Given the description of an element on the screen output the (x, y) to click on. 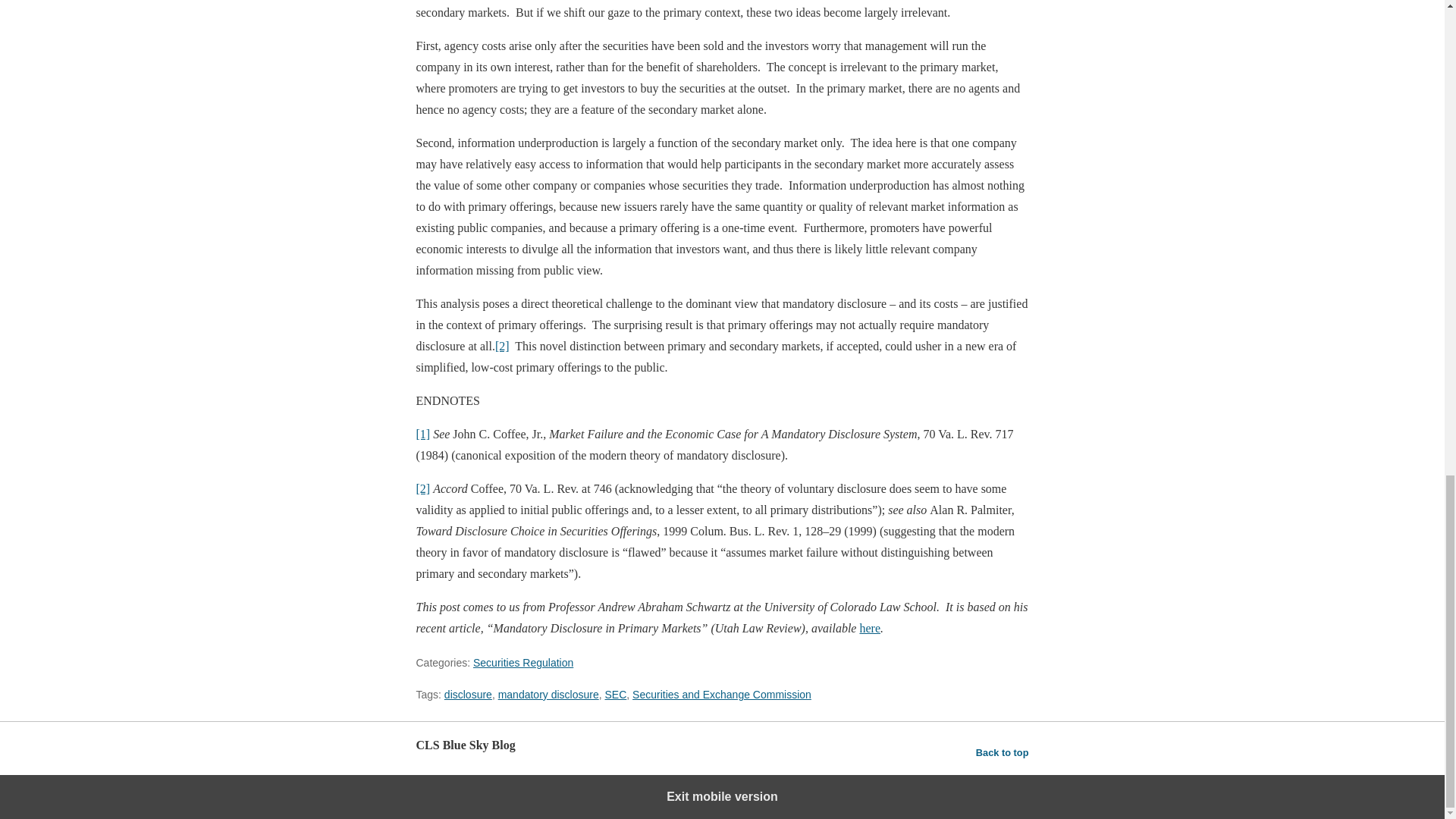
mandatory disclosure (547, 694)
SEC (616, 694)
Securities Regulation (523, 662)
Securities and Exchange Commission (720, 694)
Back to top (1002, 752)
here (869, 627)
disclosure (468, 694)
